Given the description of an element on the screen output the (x, y) to click on. 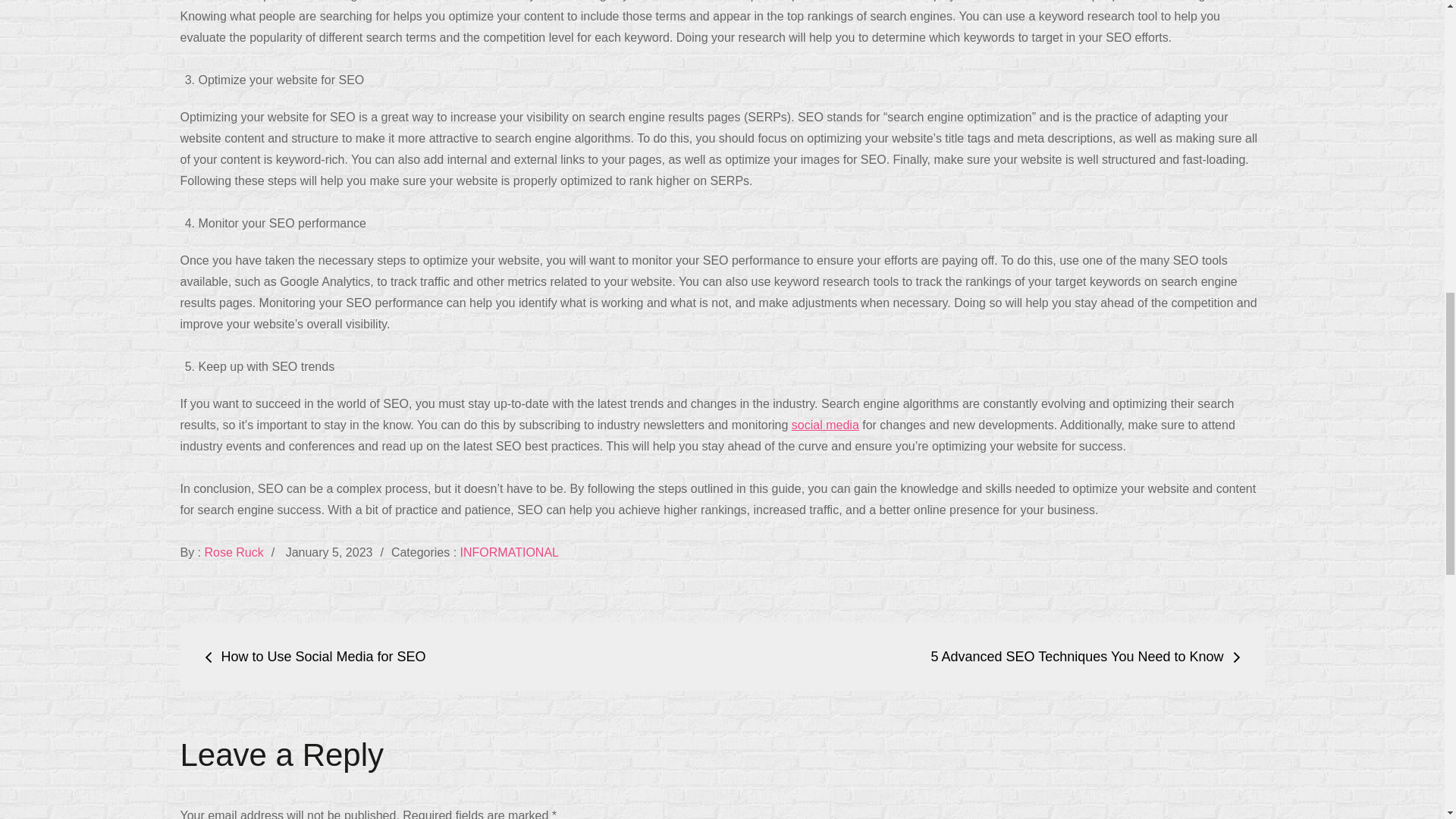
How to Use Social Media for SEO (314, 656)
January 5, 2023 (328, 552)
INFORMATIONAL (509, 552)
social media (825, 424)
Rose Ruck (234, 552)
5 Advanced SEO Techniques You Need to Know (1086, 656)
